Given the description of an element on the screen output the (x, y) to click on. 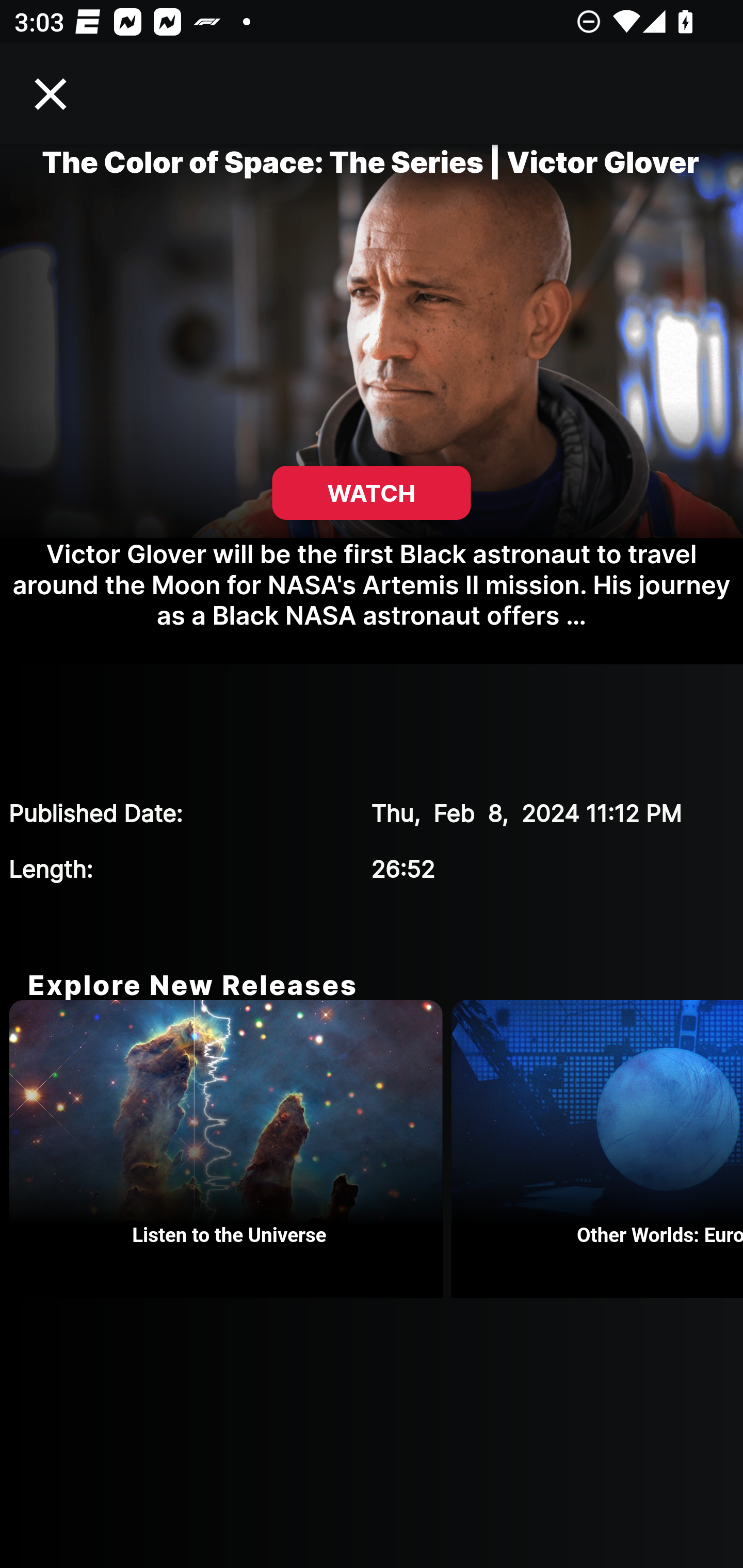
WATCH (371, 492)
Listen to the Universe (229, 1149)
Other Worlds: Europa (597, 1149)
